Given the description of an element on the screen output the (x, y) to click on. 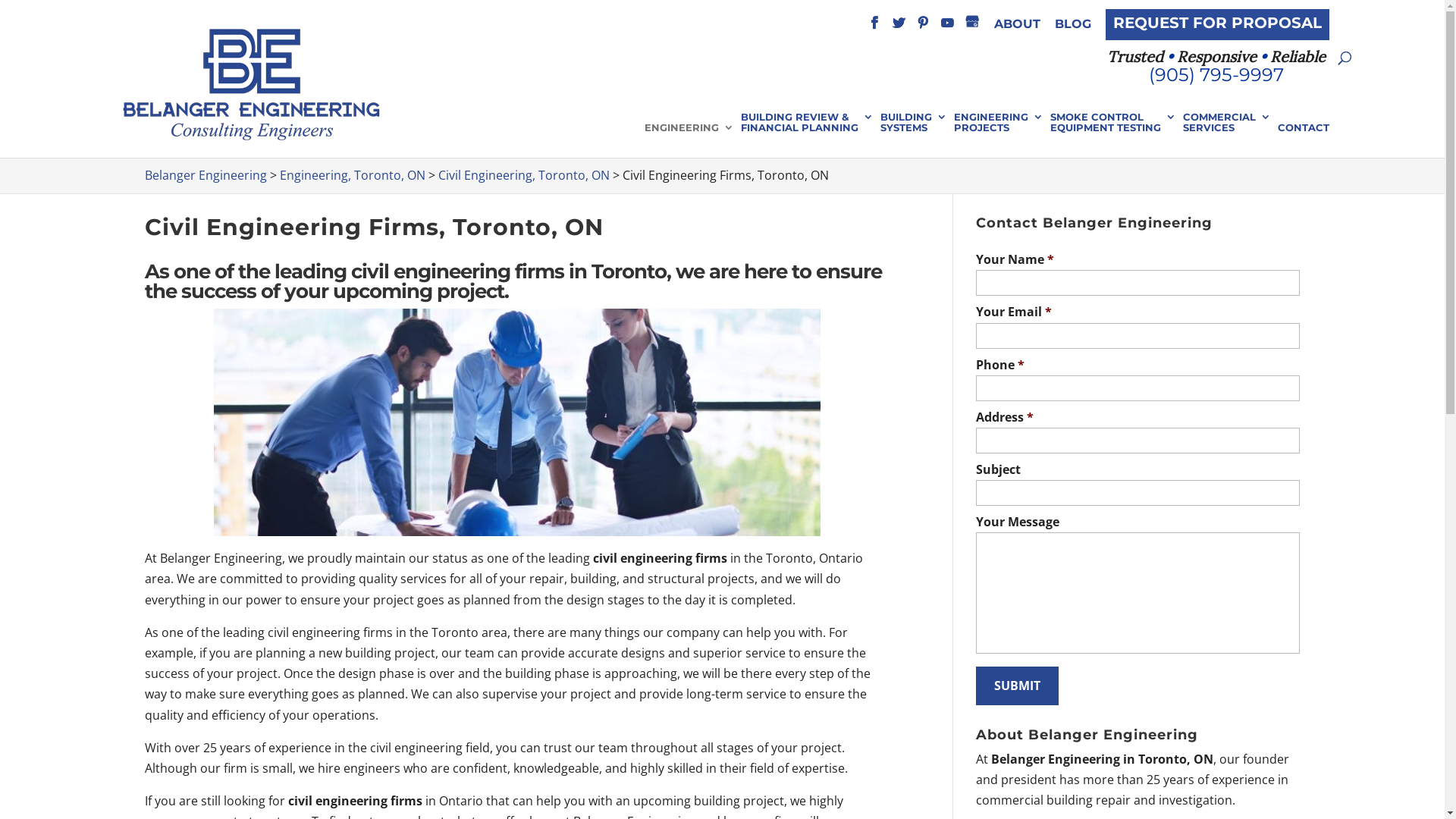
Belanger Engineering Element type: text (205, 174)
CONTACT Element type: text (1302, 139)
Submit Element type: text (1016, 684)
COMMERCIAL
SERVICES Element type: text (1226, 134)
BLOG Element type: text (1072, 28)
SMOKE CONTROL
EQUIPMENT TESTING Element type: text (1112, 134)
REQUEST FOR PROPOSAL Element type: text (1217, 24)
ENGINEERING
PROJECTS Element type: text (998, 134)
Engineering, Toronto, ON Element type: text (351, 174)
ENGINEERING Element type: text (689, 139)
Skip to content Element type: text (0, 0)
Civil Engineering, Toronto, ON Element type: text (523, 174)
ABOUT Element type: text (1016, 28)
BUILDING
SYSTEMS Element type: text (912, 134)
BUILDING REVIEW &
FINANCIAL PLANNING Element type: text (806, 134)
